Given the description of an element on the screen output the (x, y) to click on. 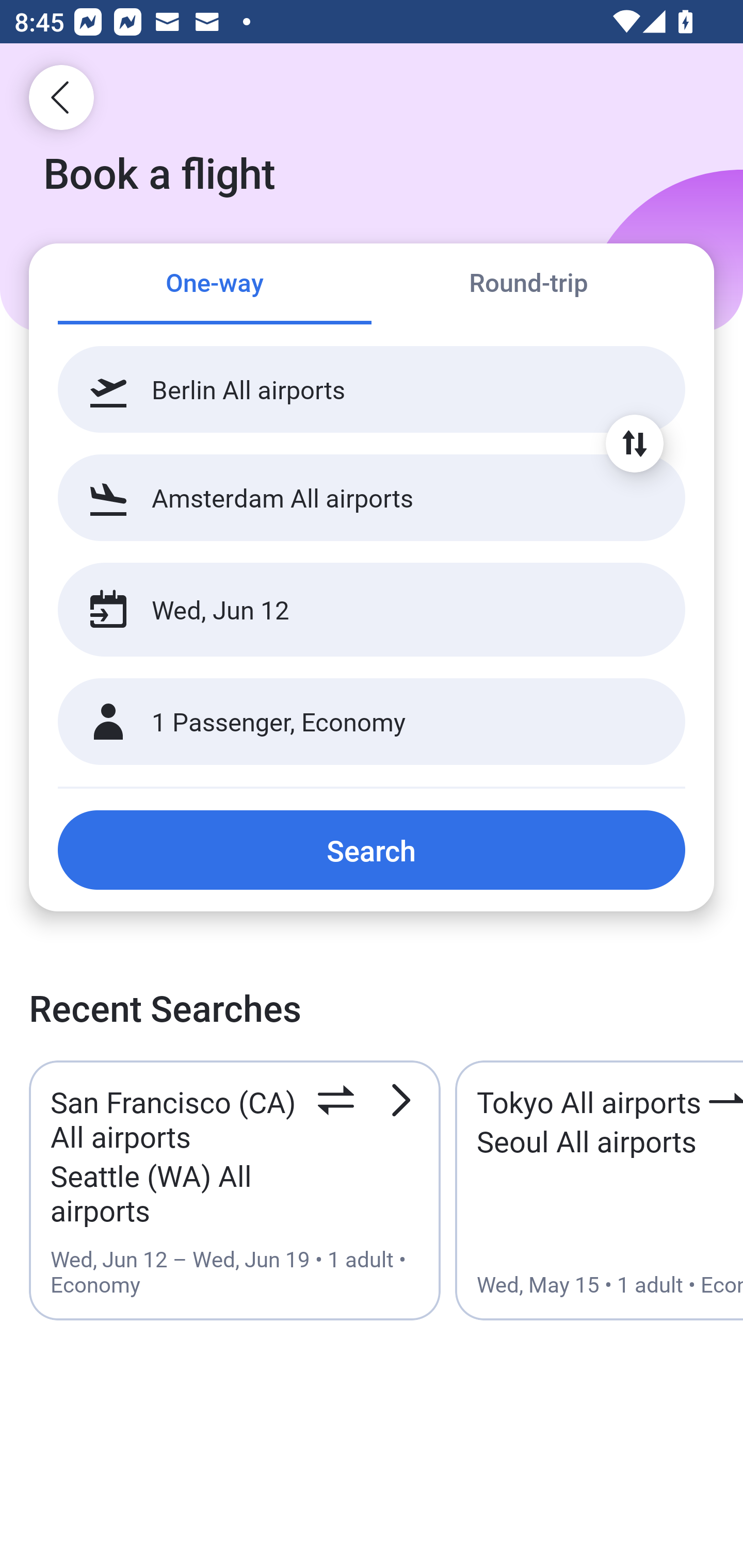
Round-trip (528, 284)
Berlin All airports (371, 389)
Amsterdam All airports (371, 497)
Wed, Jun 12 (349, 609)
1 Passenger, Economy (371, 721)
Search (371, 849)
